Given the description of an element on the screen output the (x, y) to click on. 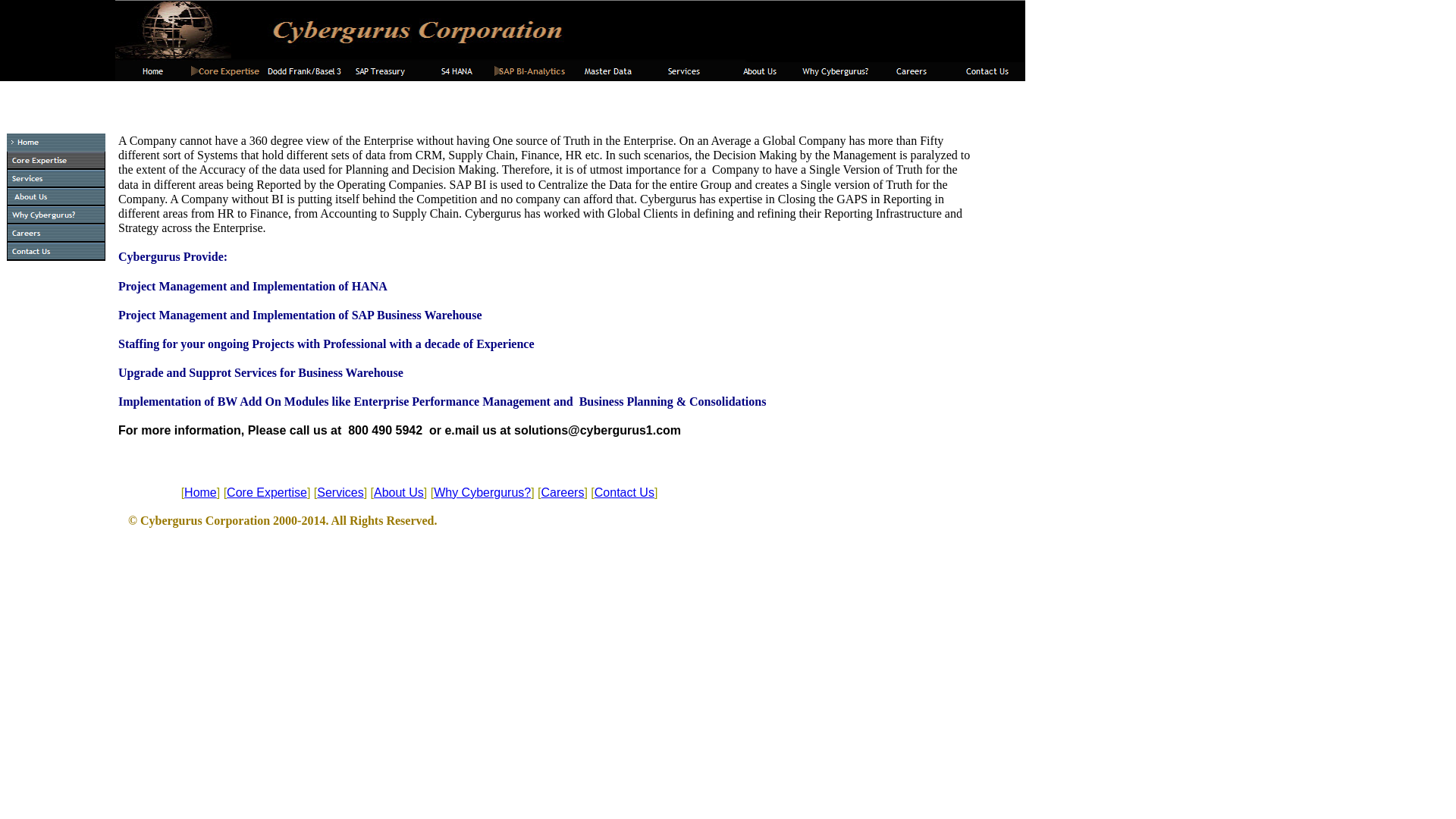
Home (200, 492)
Why Cybergurus? (835, 71)
SAP BI-Analytics (532, 71)
Why Cybergurus? (482, 492)
Services (339, 492)
Master Data (608, 71)
Contact Us (987, 71)
Services (55, 178)
S4 HANA (457, 71)
Contact Us (55, 251)
 About Us  (759, 71)
Careers (55, 233)
Home (55, 142)
Home (152, 71)
SAP Treasury (380, 71)
